Given the description of an element on the screen output the (x, y) to click on. 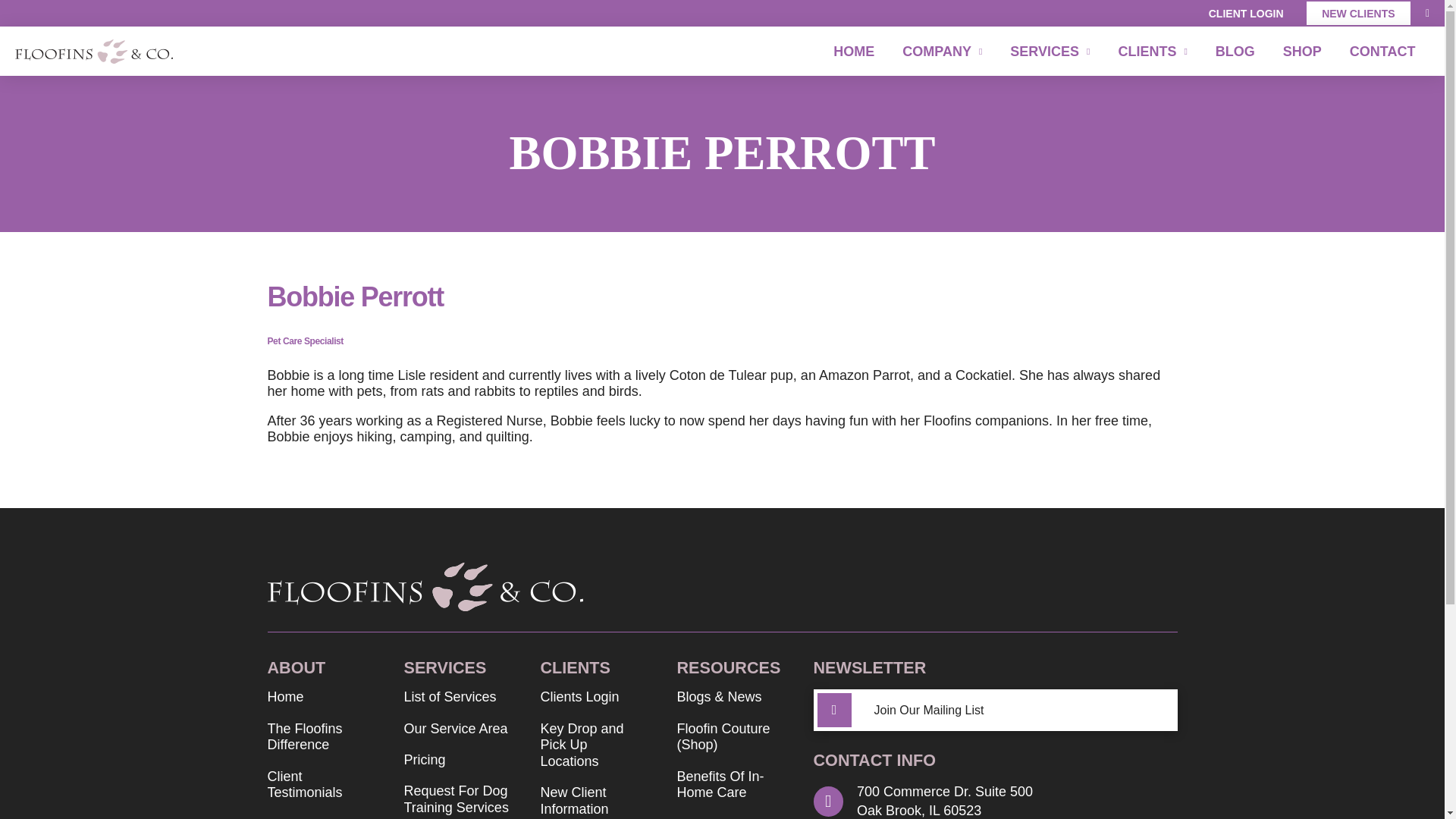
CLIENT LOGIN (1245, 13)
The Floofins Difference (320, 739)
List of Services (449, 698)
COMPANY (941, 51)
NEW CLIENTS (1358, 13)
Our Service Area (454, 730)
SERVICES (1049, 51)
SHOP (1301, 51)
Home (284, 698)
CLIENTS (1152, 51)
